Given the description of an element on the screen output the (x, y) to click on. 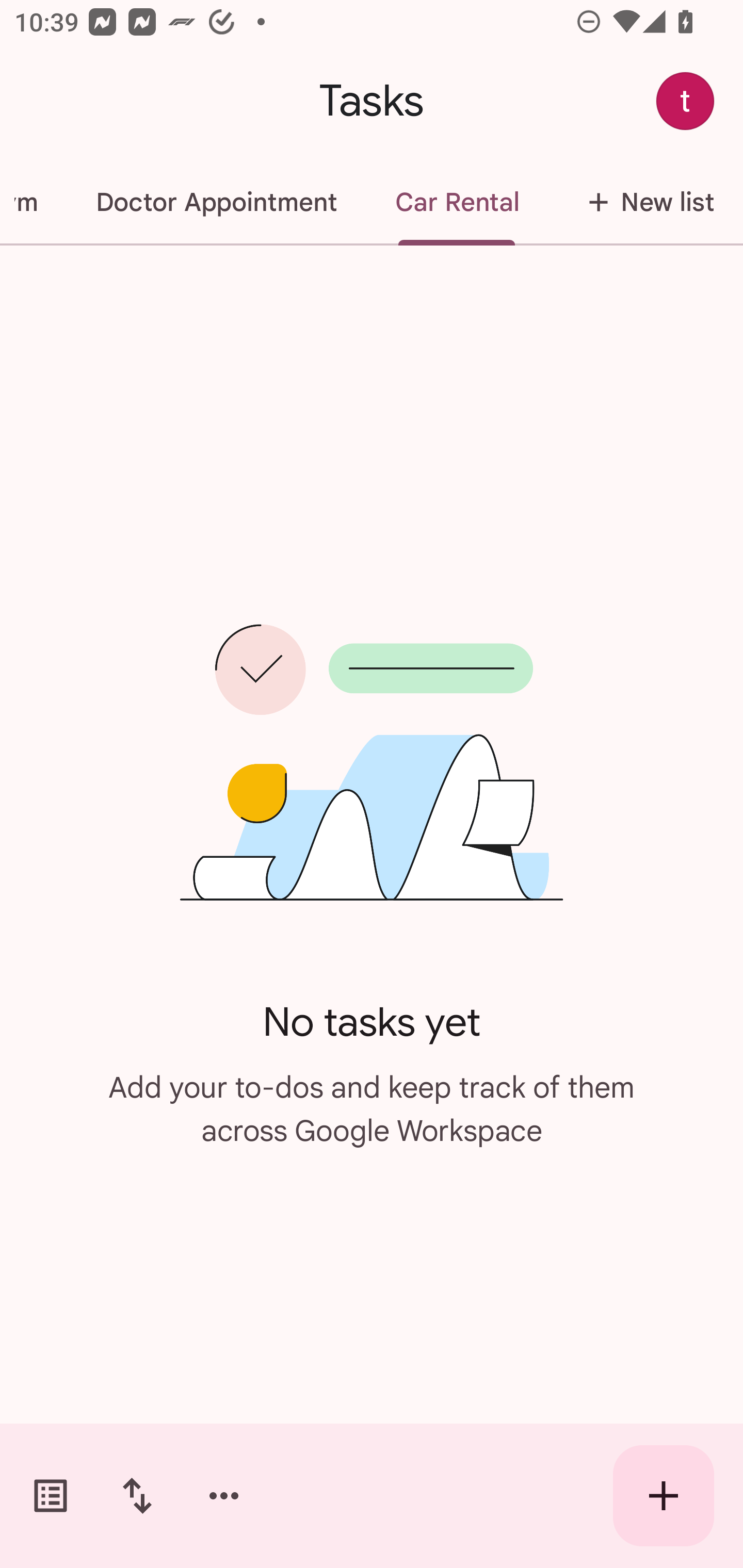
Doctor Appointment (215, 202)
New list (645, 202)
Switch task lists (50, 1495)
Create new task (663, 1495)
Change sort order (136, 1495)
More options (223, 1495)
